Given the description of an element on the screen output the (x, y) to click on. 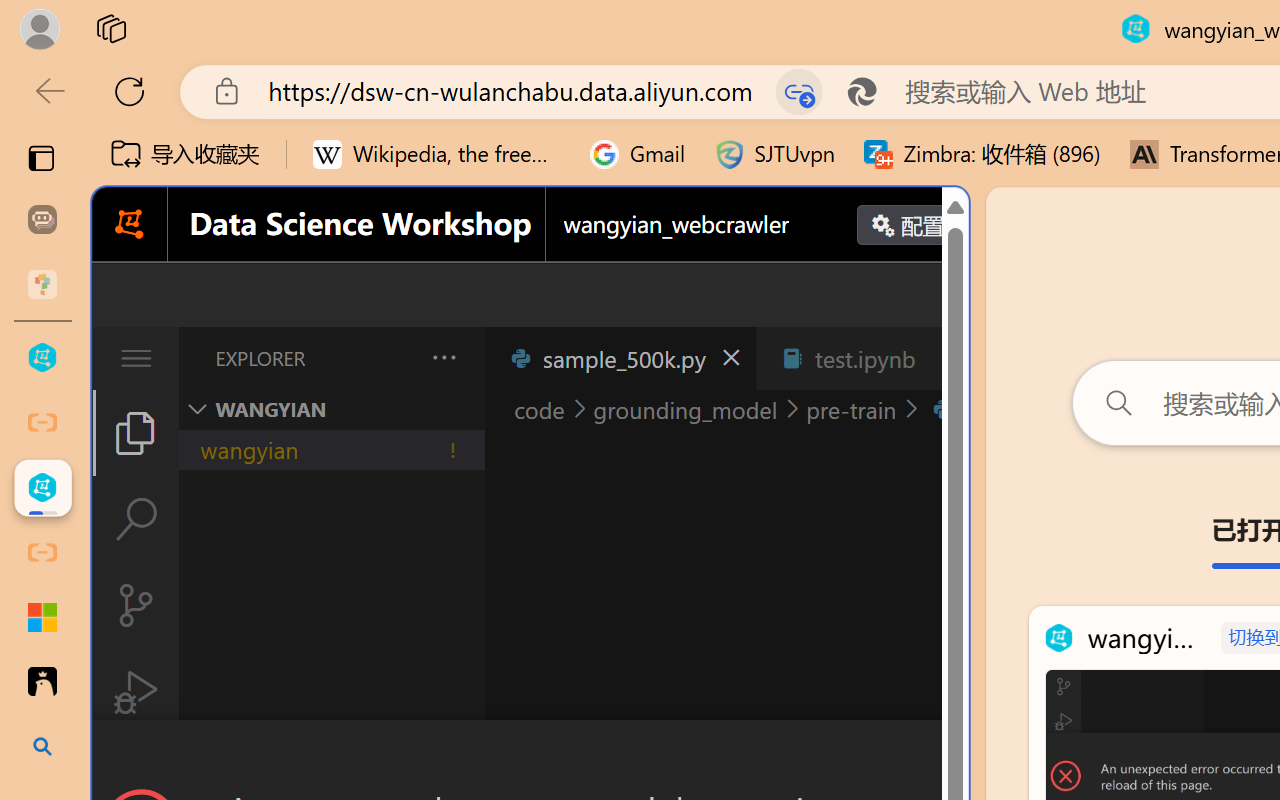
Explorer (Ctrl+Shift+E) (135, 432)
SJTUvpn (774, 154)
Views and More Actions... (442, 357)
wangyian_webcrawler - DSW (42, 487)
Class: actions-container (529, 756)
sample_500k.py (619, 358)
Gmail (637, 154)
Application Menu (135, 358)
